Given the description of an element on the screen output the (x, y) to click on. 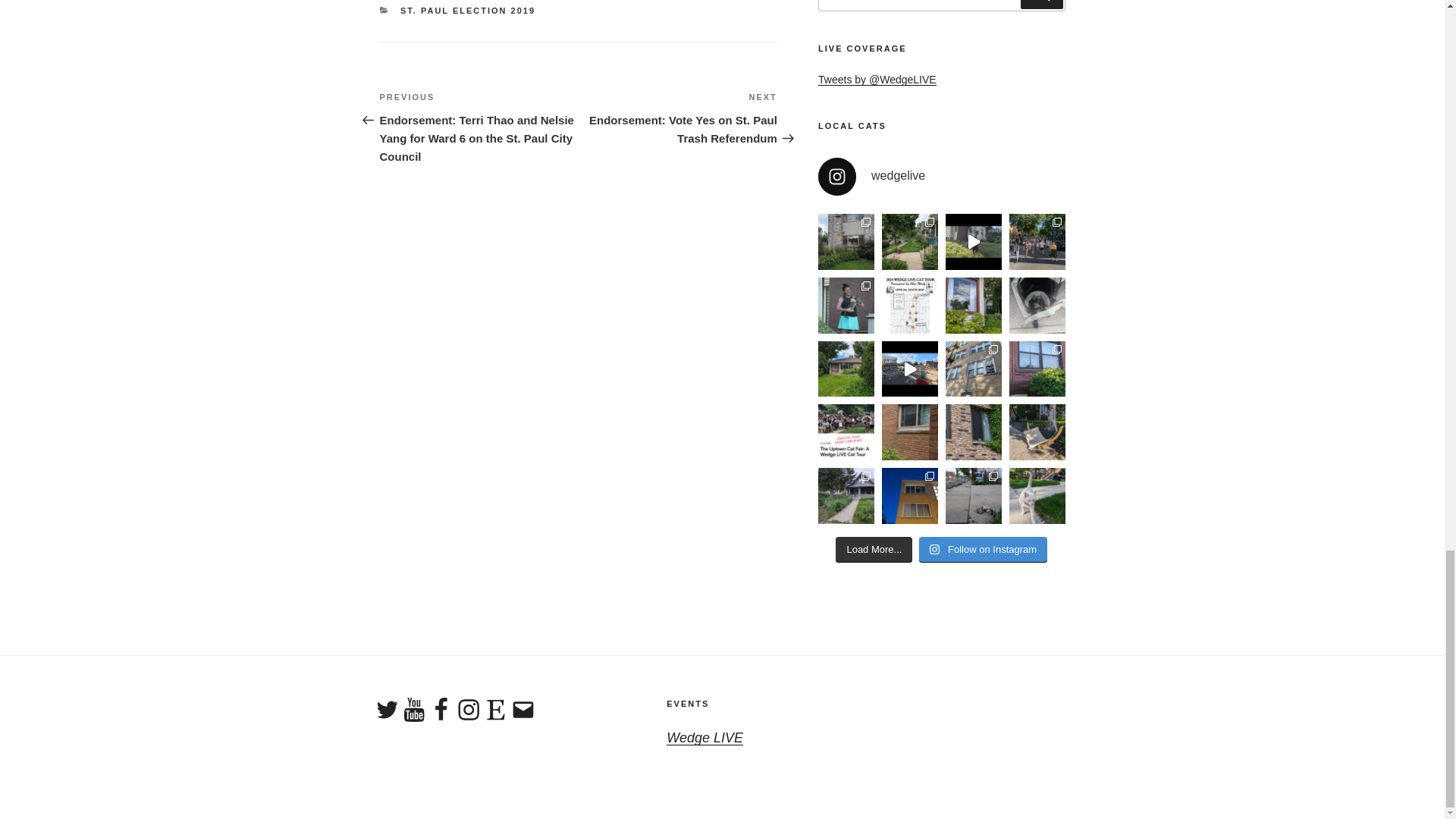
ST. PAUL ELECTION 2019 (467, 10)
Search (1041, 4)
